Given the description of an element on the screen output the (x, y) to click on. 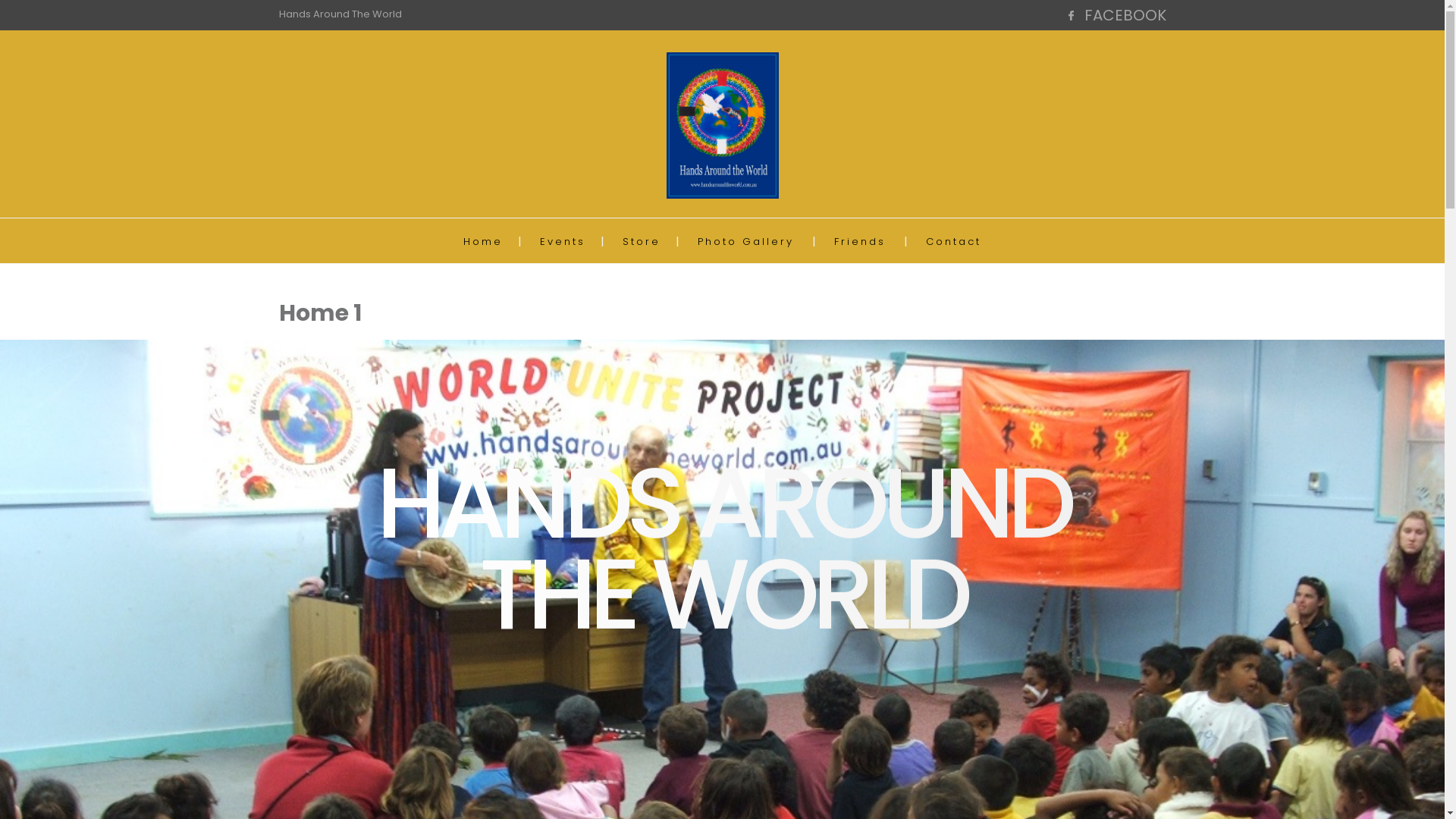
FACEBOOK Element type: text (1125, 14)
Photo Gallery Element type: text (745, 241)
Contact Element type: text (953, 241)
Store Element type: text (641, 241)
Friends Element type: text (859, 241)
Home Element type: text (482, 241)
Events Element type: text (562, 241)
